Given the description of an element on the screen output the (x, y) to click on. 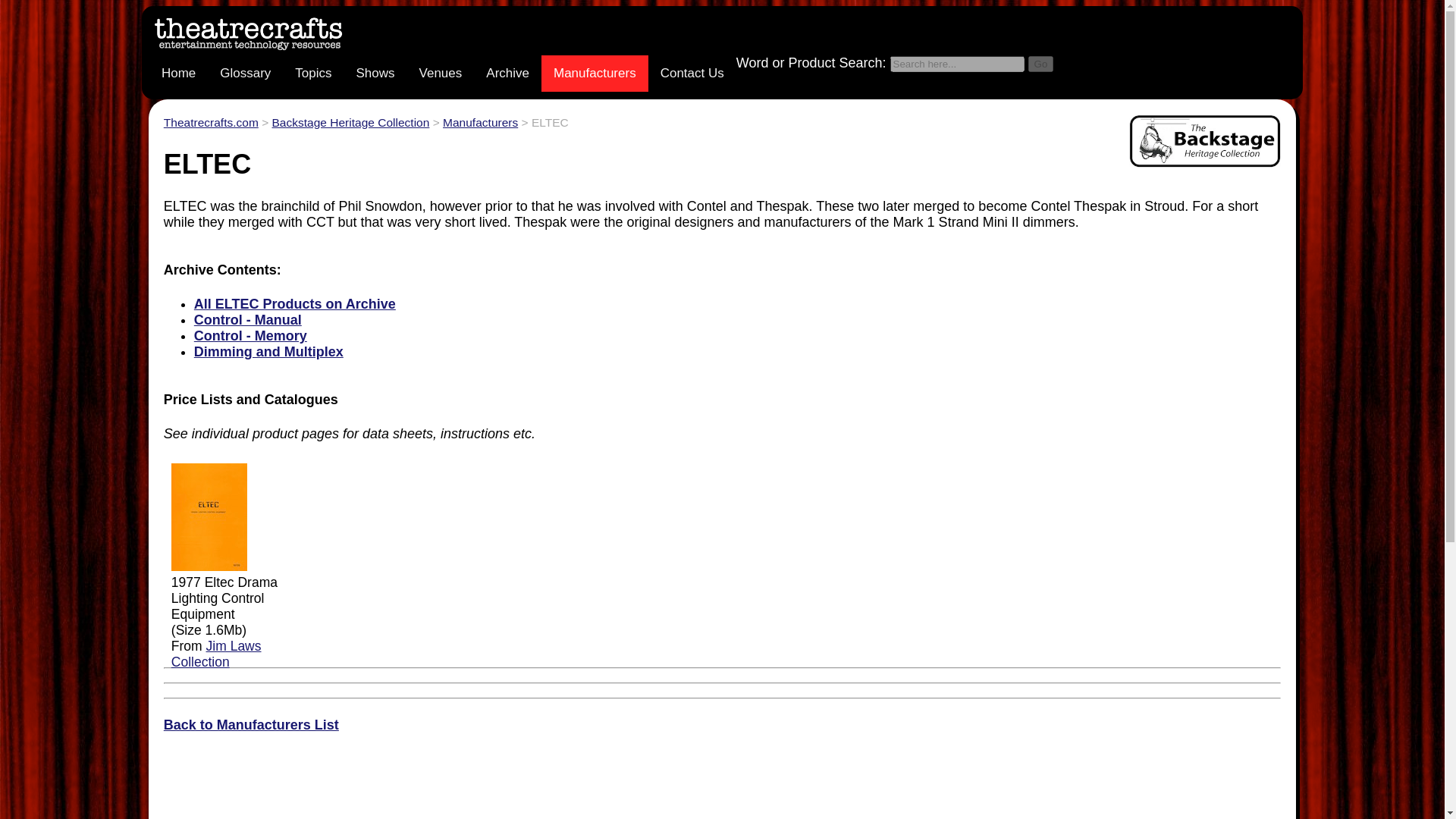
Control - Manual (247, 319)
Control - Memory (250, 335)
Jim Laws Collection (216, 653)
All ELTEC Products on Archive (294, 304)
Archive (507, 73)
Venues (440, 73)
Glossary (245, 73)
Manufacturers (594, 73)
Topics (312, 73)
Backstage Heritage Collection (350, 122)
